Given the description of an element on the screen output the (x, y) to click on. 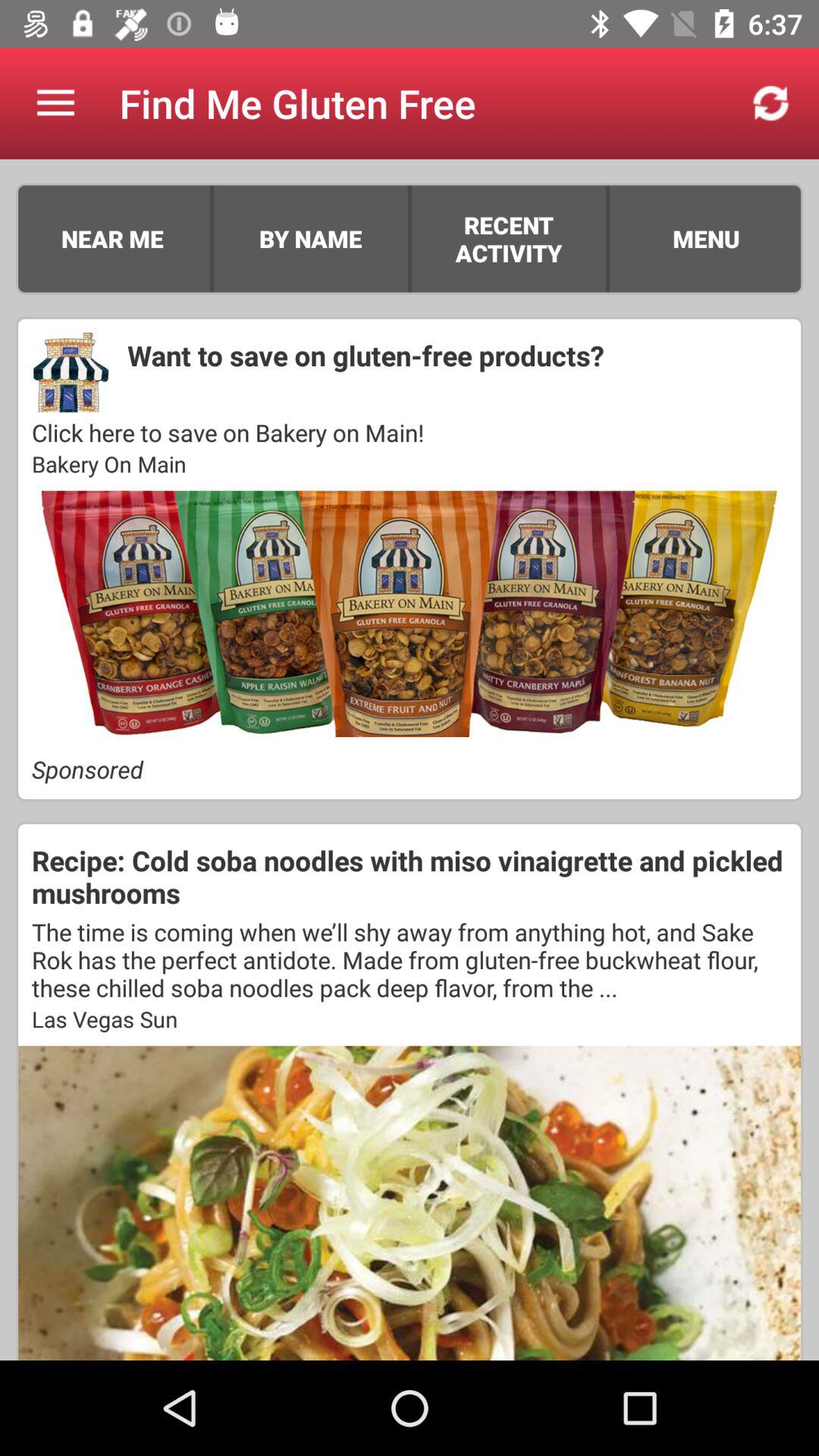
flip until the near me icon (112, 238)
